Given the description of an element on the screen output the (x, y) to click on. 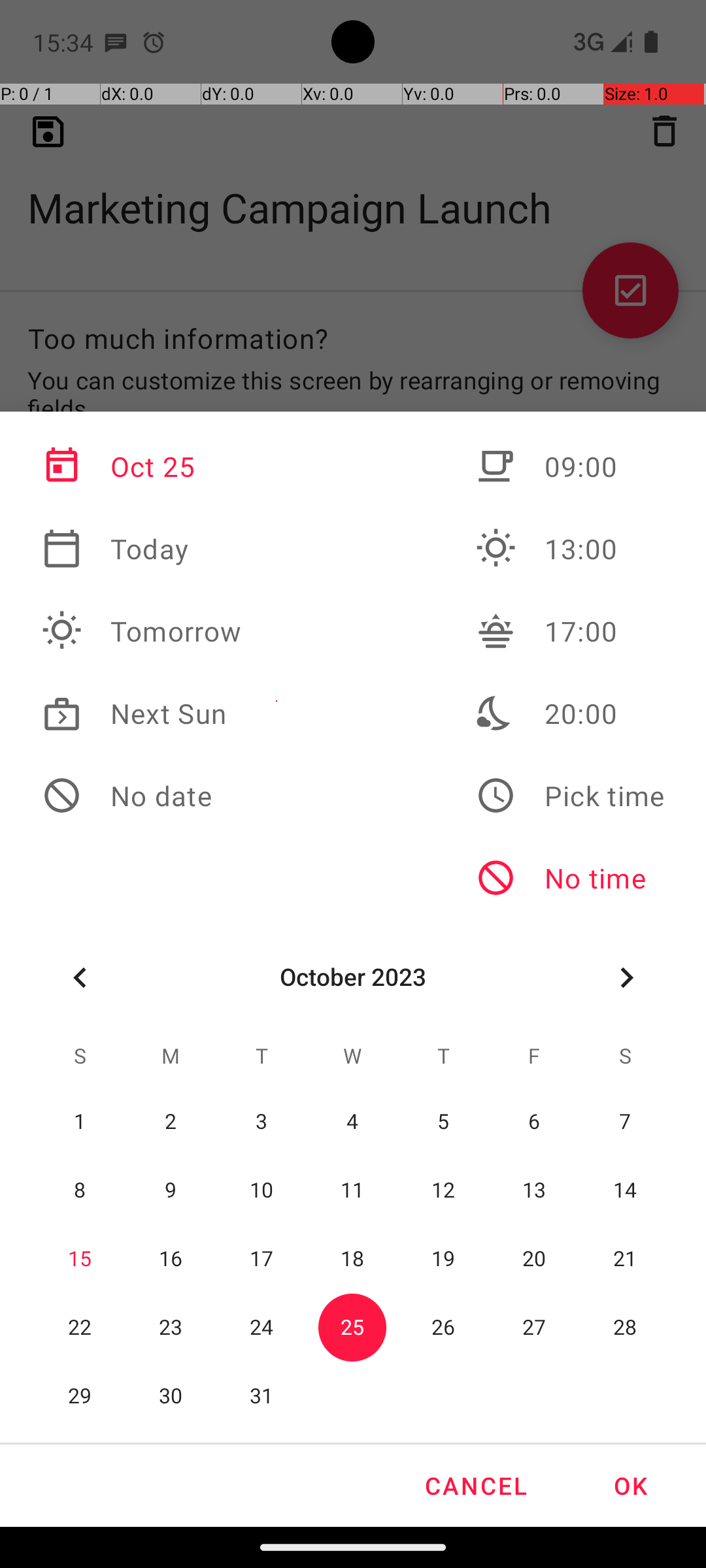
Oct 25 Element type: android.widget.CompoundButton (141, 466)
